Given the description of an element on the screen output the (x, y) to click on. 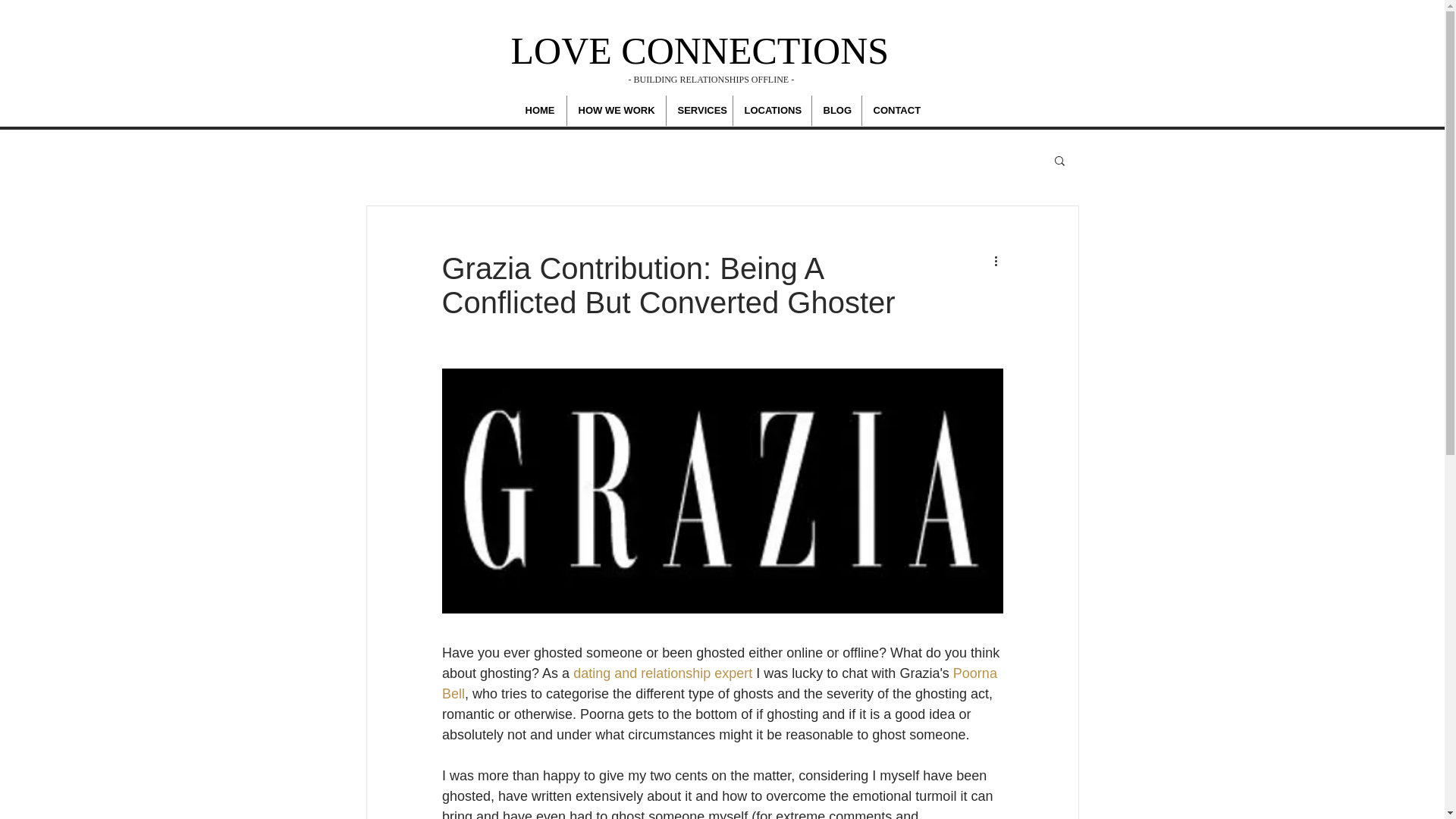
HOME (539, 110)
BLOG (835, 110)
dating and relationship expert (662, 672)
Poorna Bell (720, 683)
LOCATIONS (771, 110)
SERVICES (698, 110)
CONTACT (895, 110)
HOW WE WORK (616, 110)
